Given the description of an element on the screen output the (x, y) to click on. 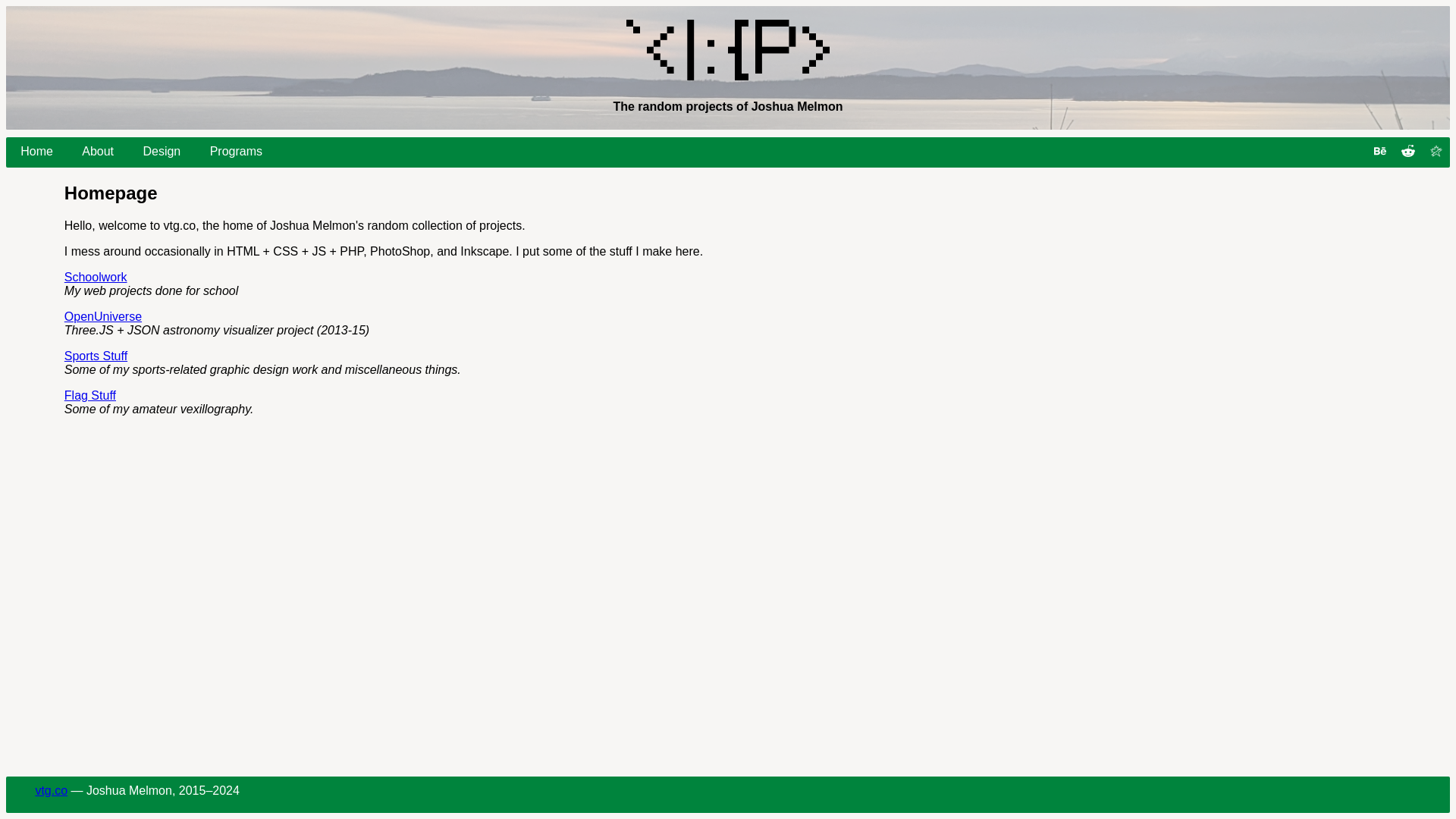
Flag Stuff (90, 395)
Design (161, 151)
About (97, 151)
Behance (1380, 152)
OpenUniverse (102, 316)
vtg.co (50, 789)
Home (35, 151)
Schoolwork (96, 277)
Programs (235, 151)
Sports Stuff (96, 355)
